Given the description of an element on the screen output the (x, y) to click on. 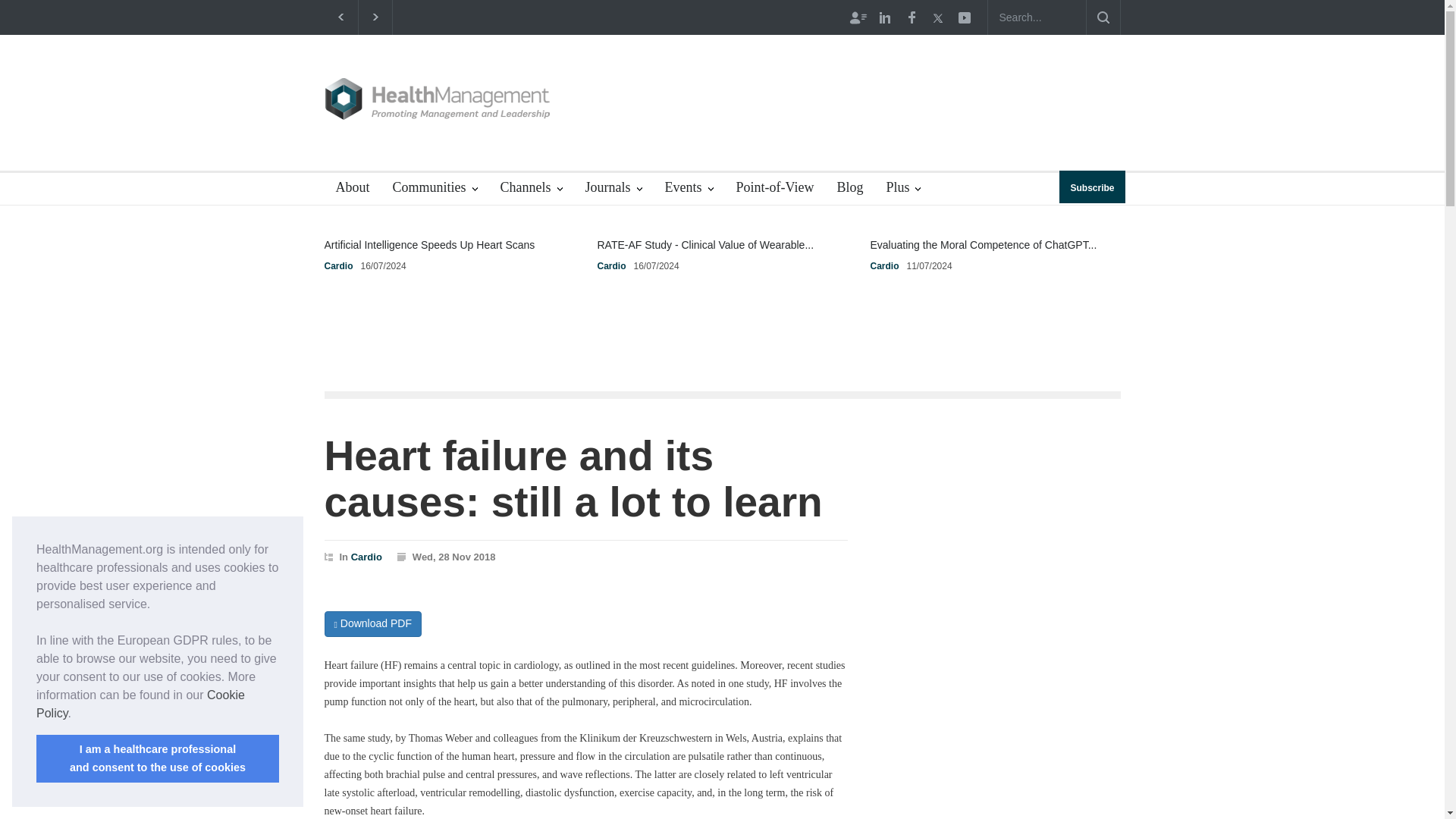
Channels (531, 188)
mail (963, 16)
Communities (433, 188)
Left (339, 16)
right (374, 17)
3rd party ad content (845, 90)
twitter (937, 16)
HealthManagement.org - The Portal (437, 99)
Journals (613, 188)
Cookie Policy (140, 703)
Search (1102, 17)
Communities (433, 188)
Right (374, 16)
facebook (910, 16)
